Given the description of an element on the screen output the (x, y) to click on. 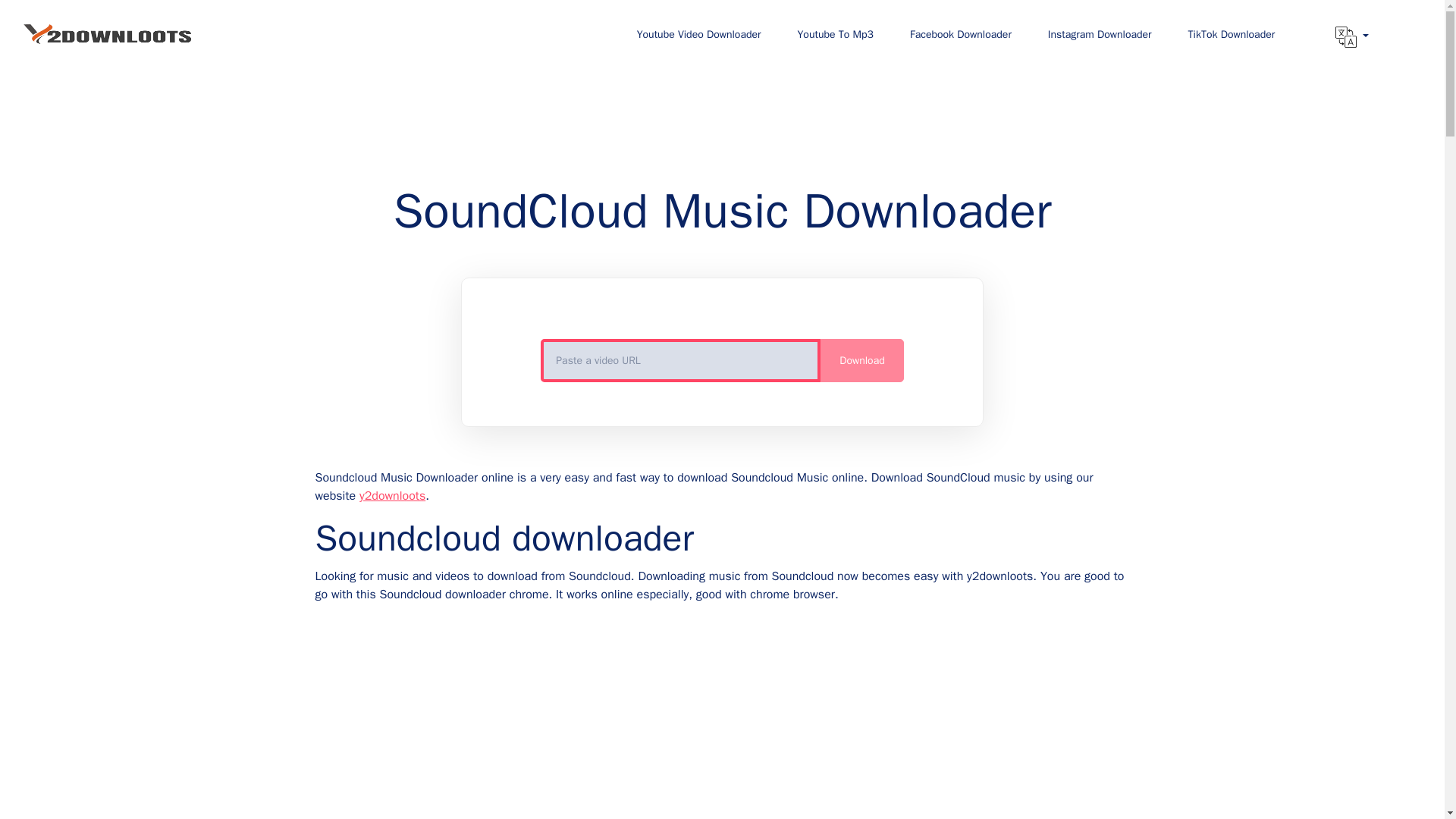
Instagram Downloader (1099, 33)
Youtube Video Downloader (698, 33)
Facebook Downloader (960, 33)
TikTok Downloader (1232, 33)
Youtube To Mp3 (834, 33)
